Given the description of an element on the screen output the (x, y) to click on. 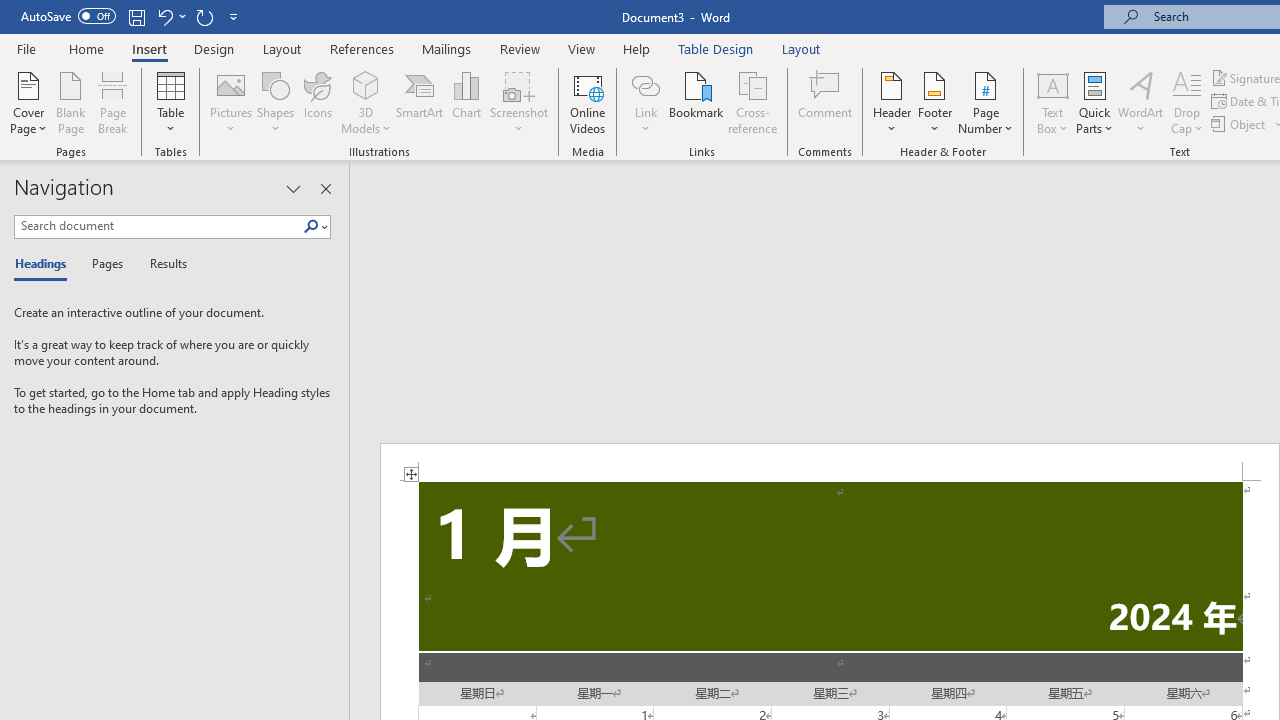
Undo Increase Indent (164, 15)
Page Number (986, 102)
Header (891, 102)
Repeat Doc Close (204, 15)
Blank Page (70, 102)
Shapes (275, 102)
